Given the description of an element on the screen output the (x, y) to click on. 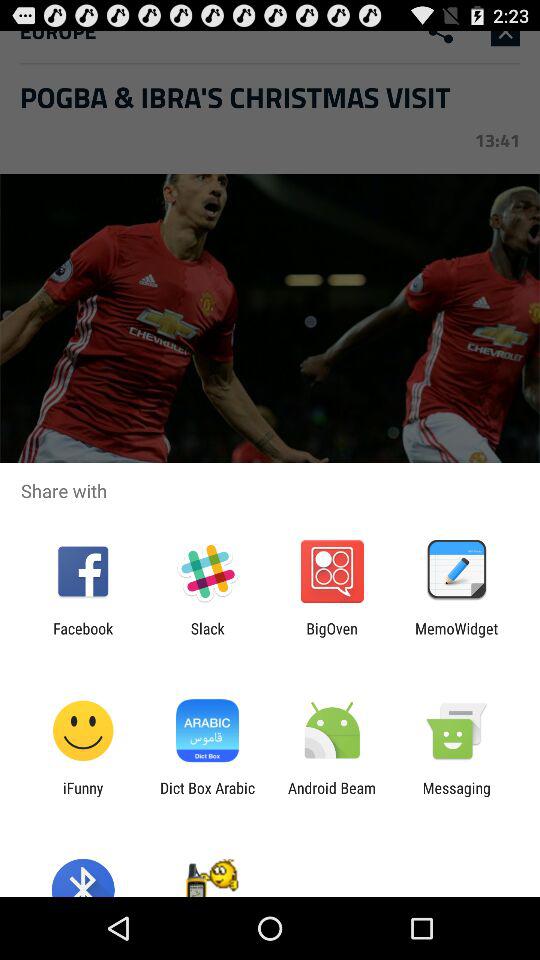
click memowidget item (456, 637)
